Given the description of an element on the screen output the (x, y) to click on. 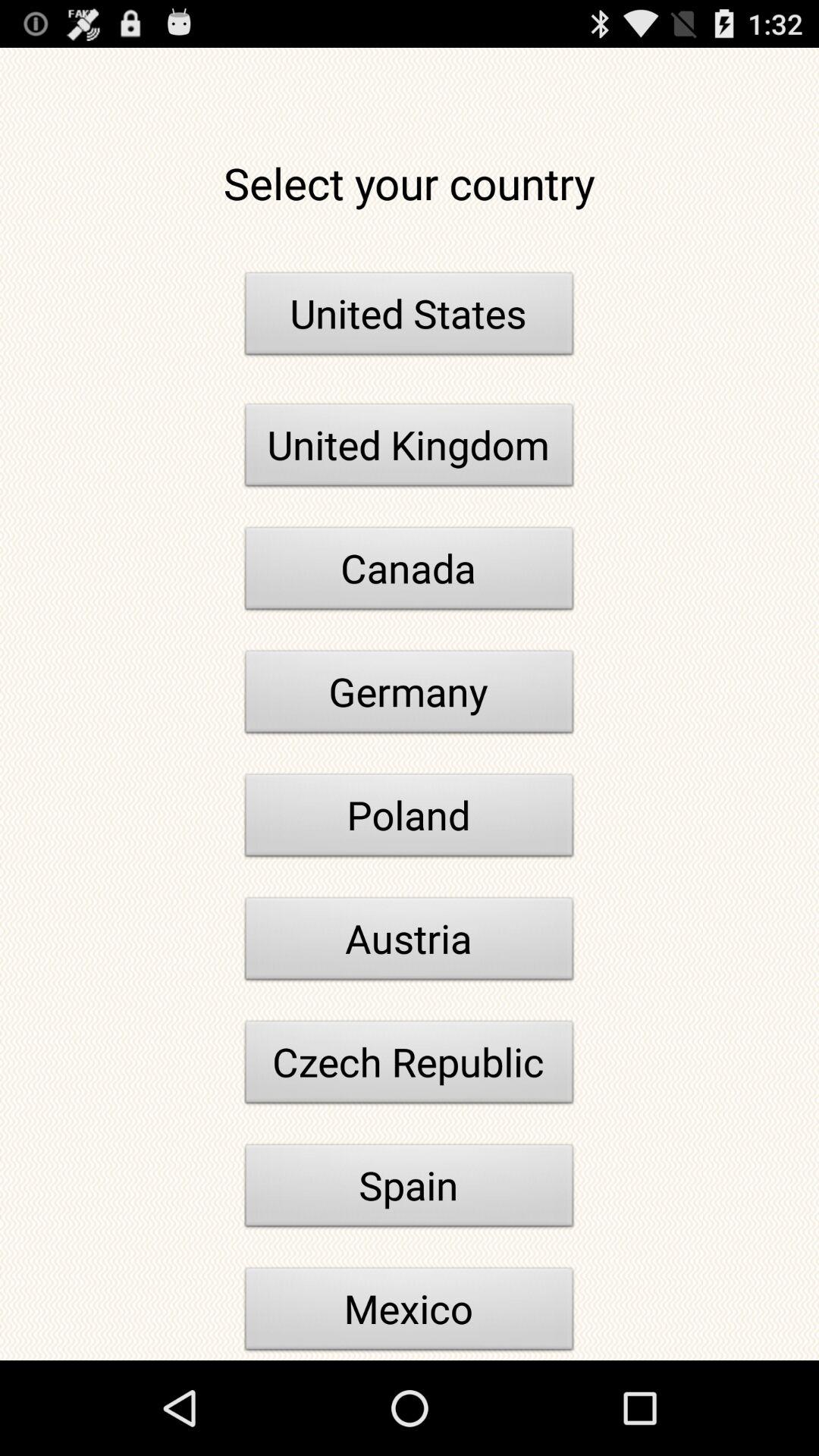
scroll to austria (409, 942)
